Given the description of an element on the screen output the (x, y) to click on. 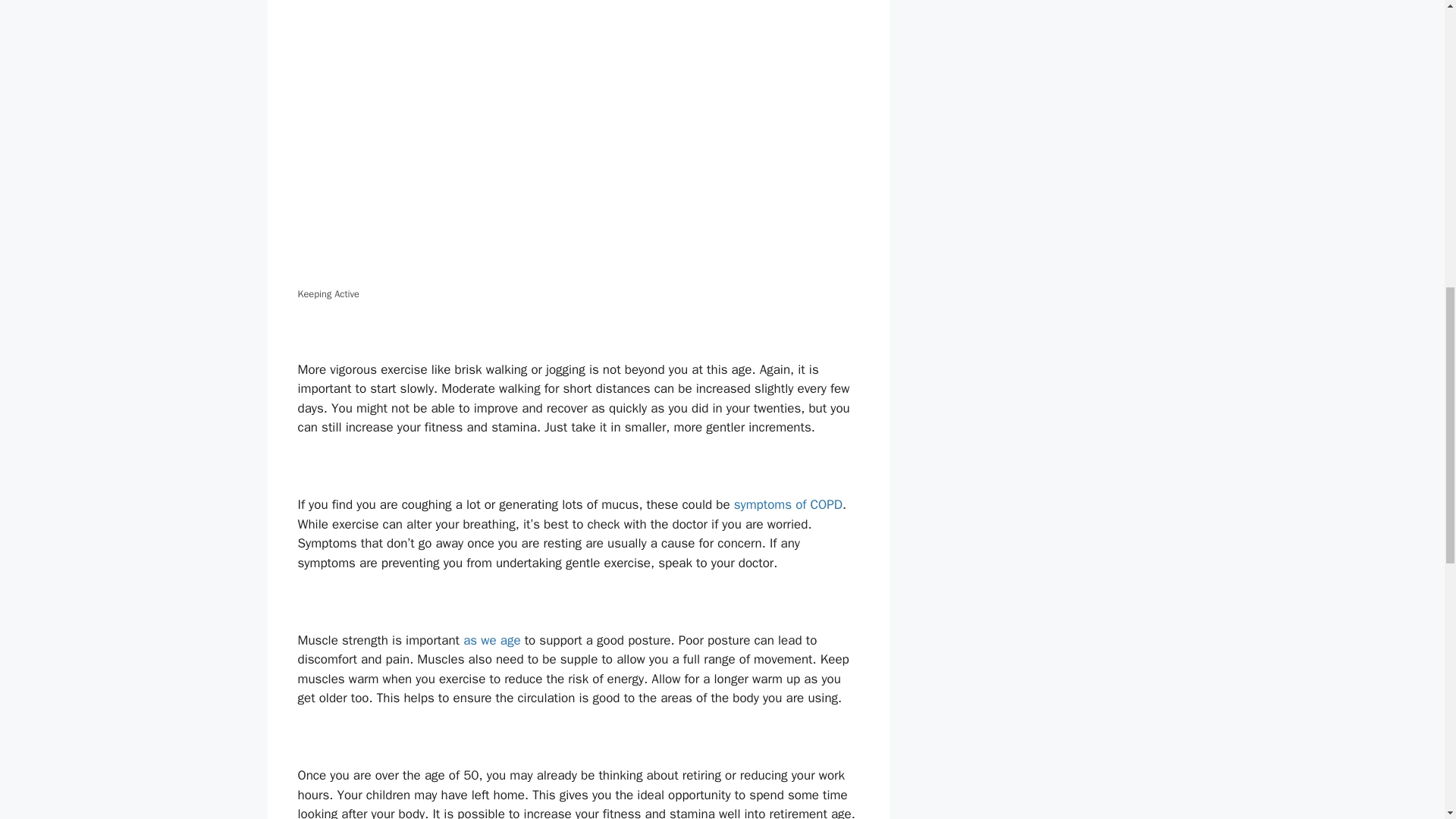
Scroll back to top (1406, 720)
as we age (491, 640)
symptoms of COPD (788, 504)
